Given the description of an element on the screen output the (x, y) to click on. 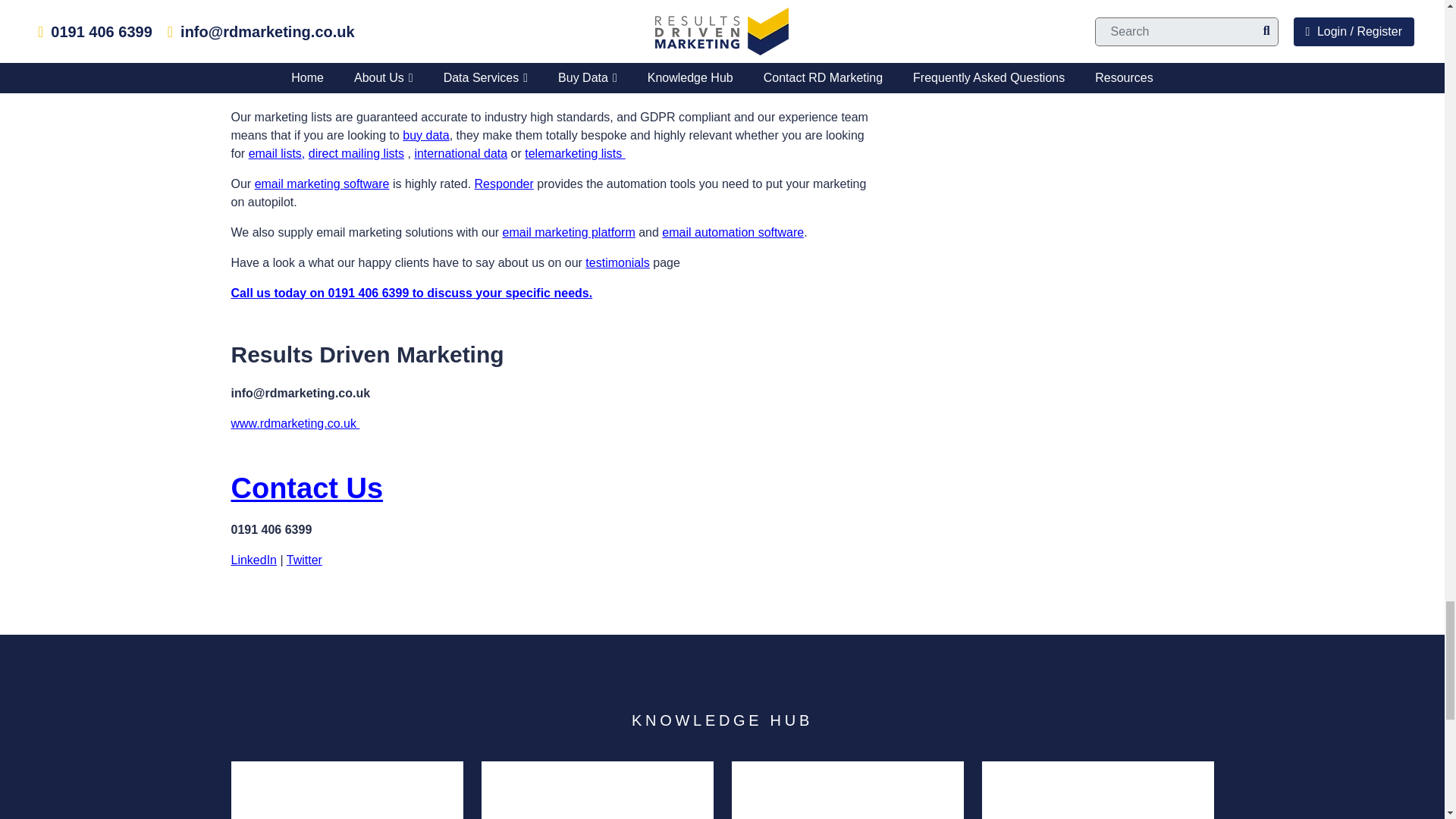
telemarketing lists  (575, 153)
international data (459, 153)
Results Driven Marketing (460, 86)
email lists, (276, 153)
Responder (504, 183)
email marketing software (322, 183)
direct mailing lists (356, 153)
buy data (425, 134)
